Given the description of an element on the screen output the (x, y) to click on. 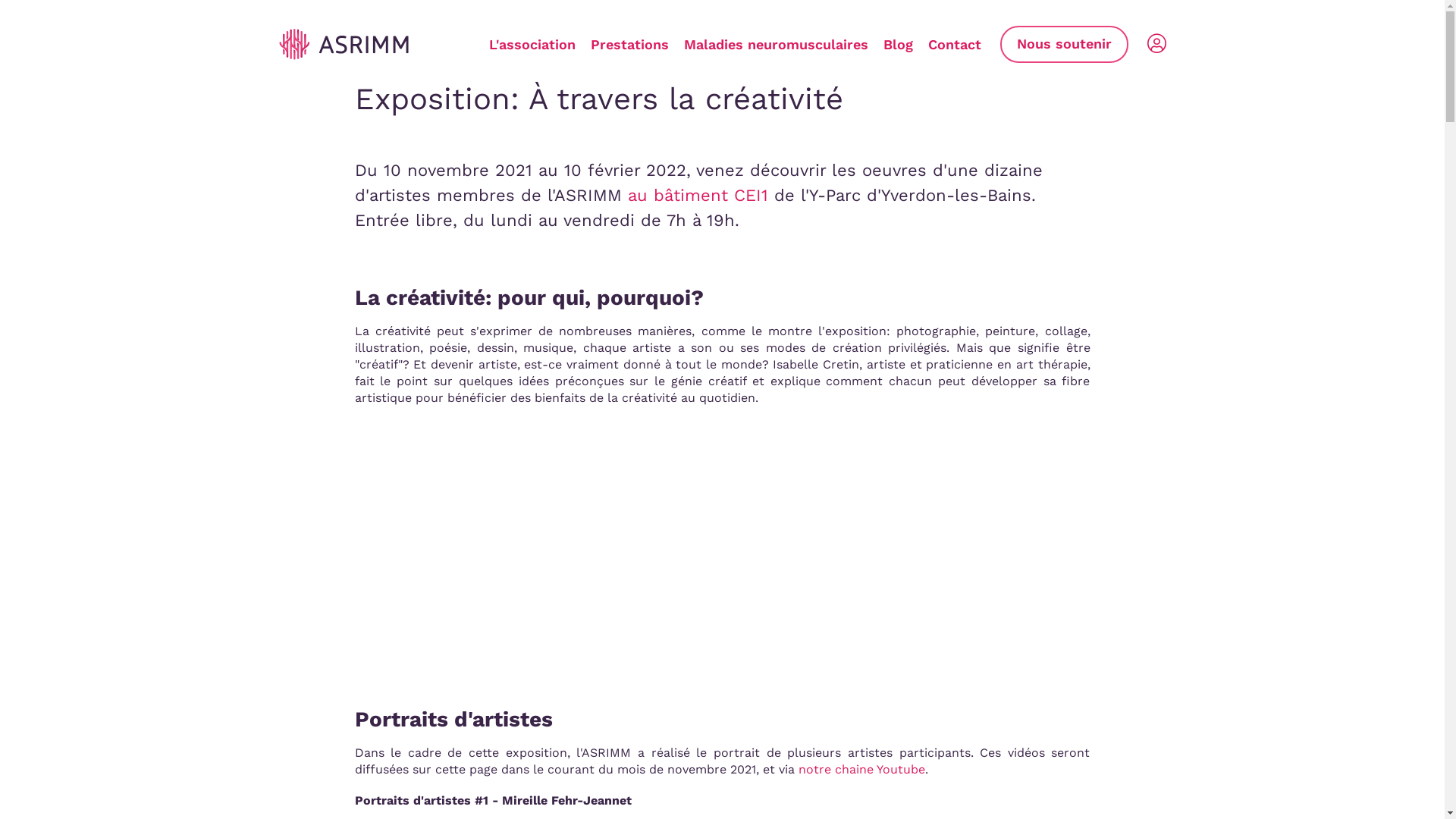
Blog Element type: text (897, 43)
Maladies neuromusculaires Element type: text (776, 43)
L'association Element type: text (531, 43)
Contact Element type: text (954, 43)
Nous soutenir Element type: text (1063, 43)
YouTube video player Element type: hover (566, 539)
Prestations Element type: text (628, 43)
notre chaine Youtube Element type: text (860, 769)
